Given the description of an element on the screen output the (x, y) to click on. 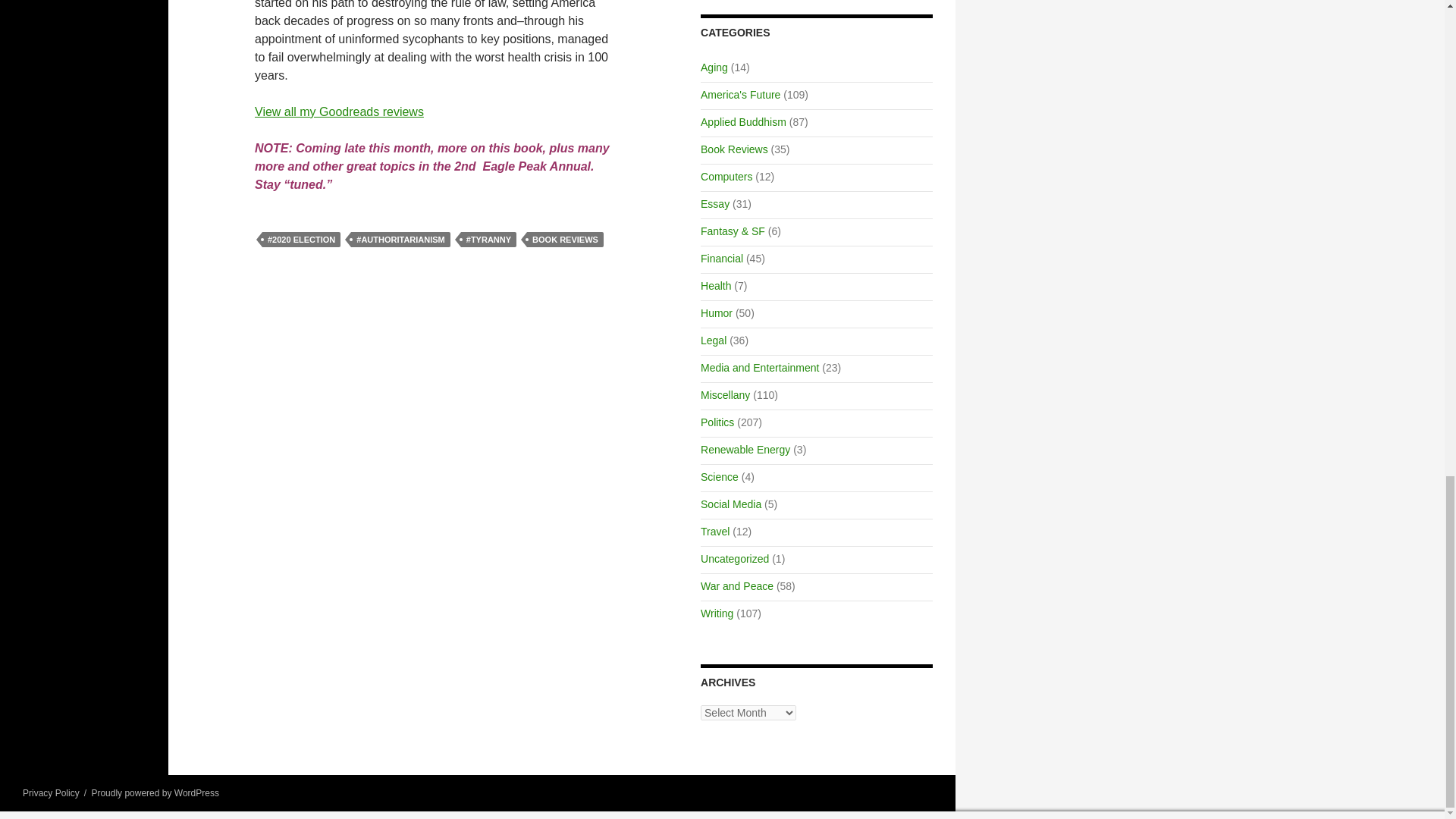
Applied Buddhism (743, 121)
Legal (713, 340)
BOOK REVIEWS (565, 239)
Computers (726, 176)
Media and Entertainment (759, 367)
Renewable Energy (745, 449)
Politics (716, 422)
Book Reviews (734, 149)
America's Future (740, 94)
View all my Goodreads reviews (338, 111)
